Given the description of an element on the screen output the (x, y) to click on. 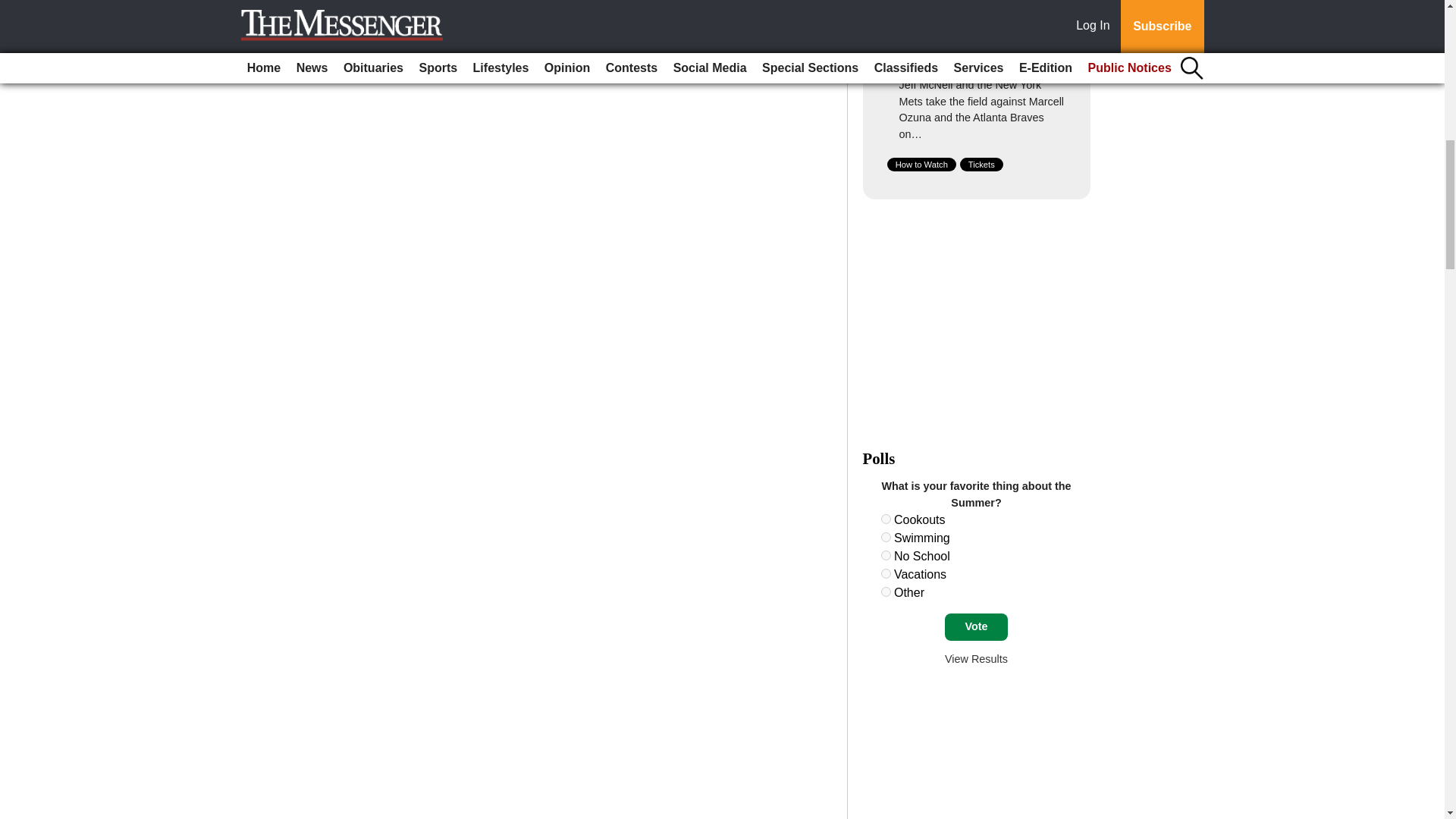
   Vote    (975, 626)
View Results Of This Poll (975, 658)
7277 (885, 573)
7276 (885, 555)
7275 (885, 537)
7274 (885, 519)
7278 (885, 592)
